Given the description of an element on the screen output the (x, y) to click on. 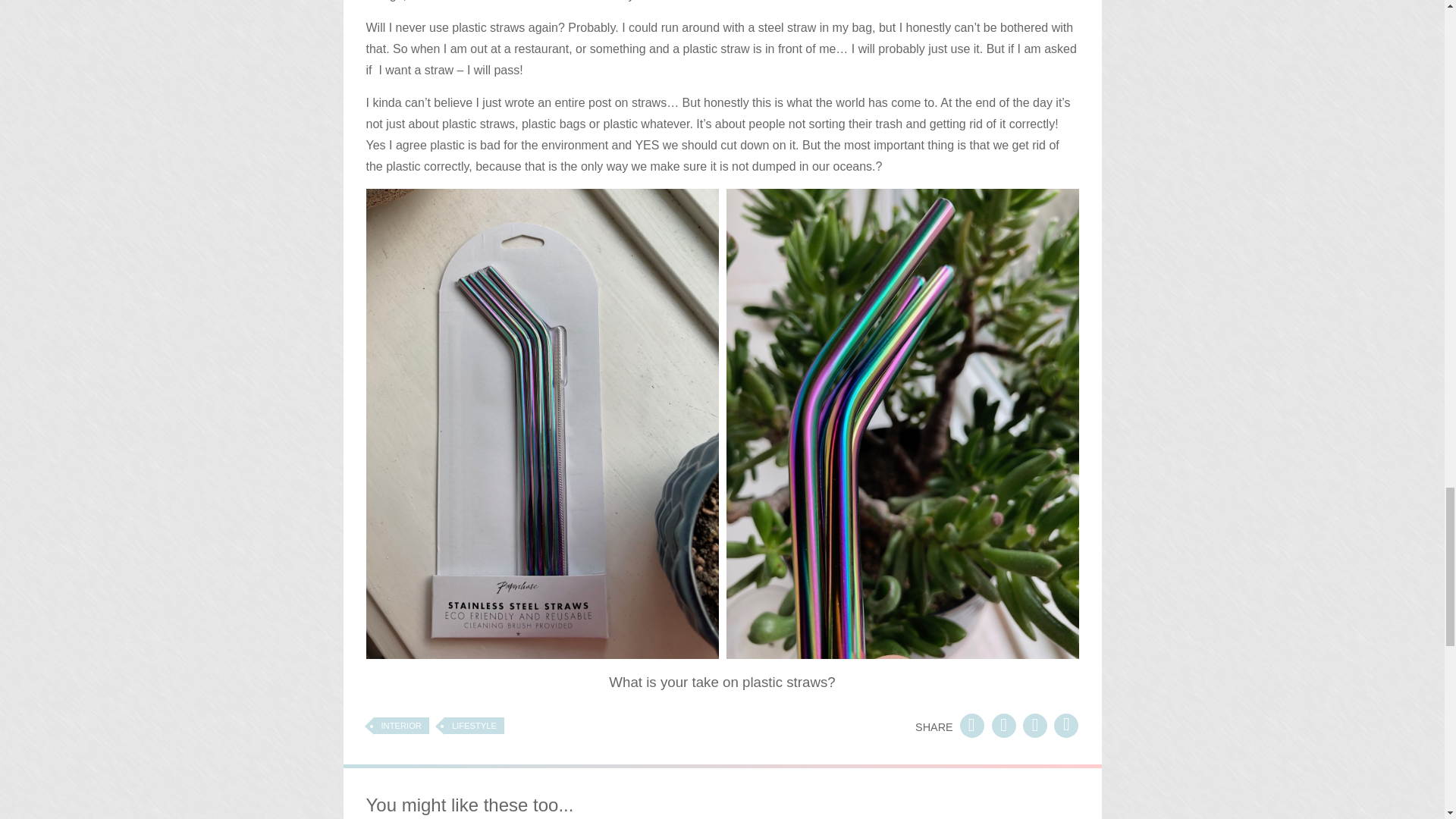
Facebook (971, 724)
Twitter (1034, 724)
INTERIOR (400, 725)
LIFESTYLE (473, 725)
Twitter (1066, 724)
